Given the description of an element on the screen output the (x, y) to click on. 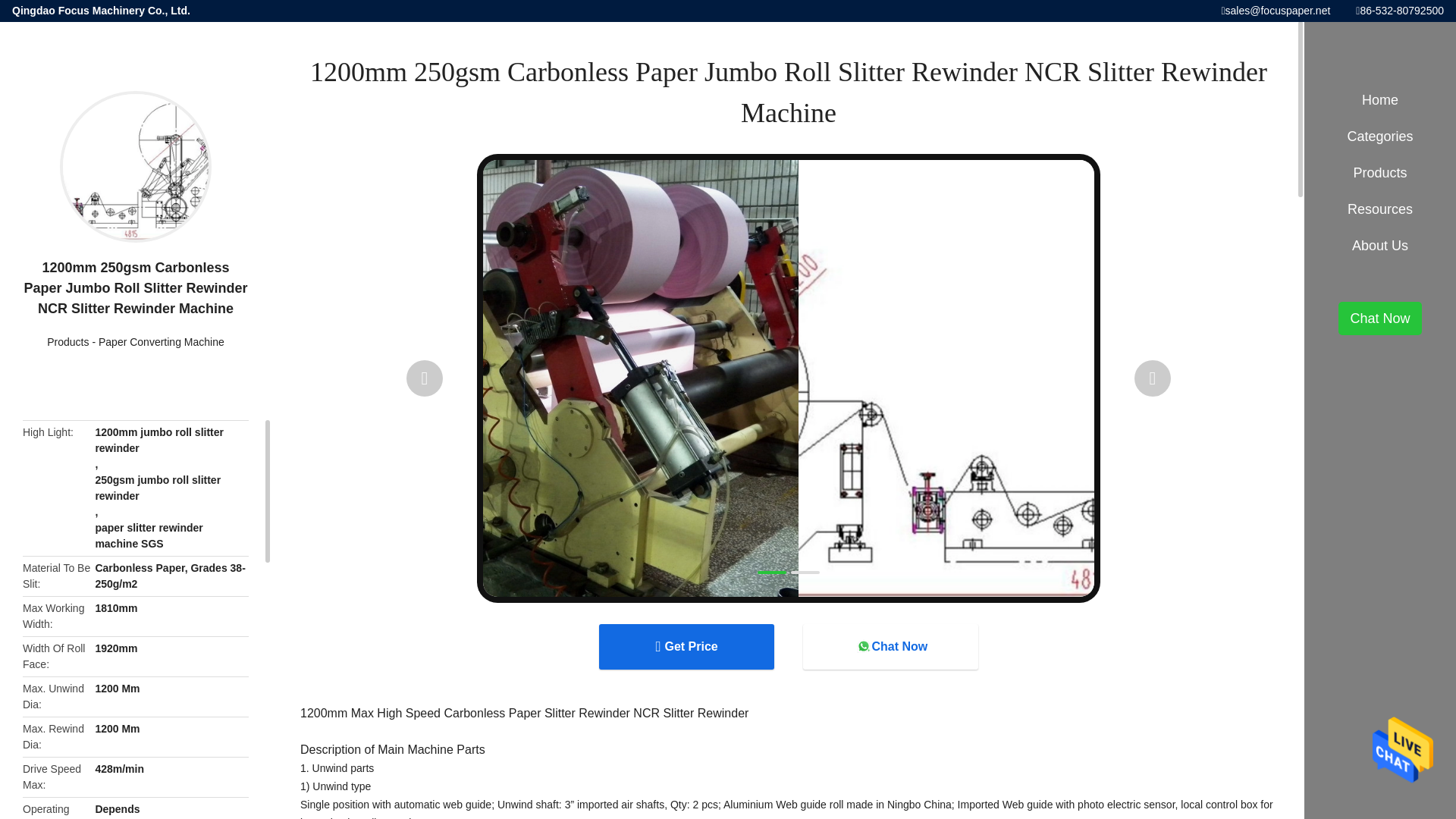
Home (1379, 99)
Categories (1379, 135)
Products (67, 341)
China Paper Converting Machine Manufacturers (161, 341)
Chat Now (889, 646)
Paper Converting Machine (161, 341)
Products (67, 341)
Get Price (685, 646)
